Given the description of an element on the screen output the (x, y) to click on. 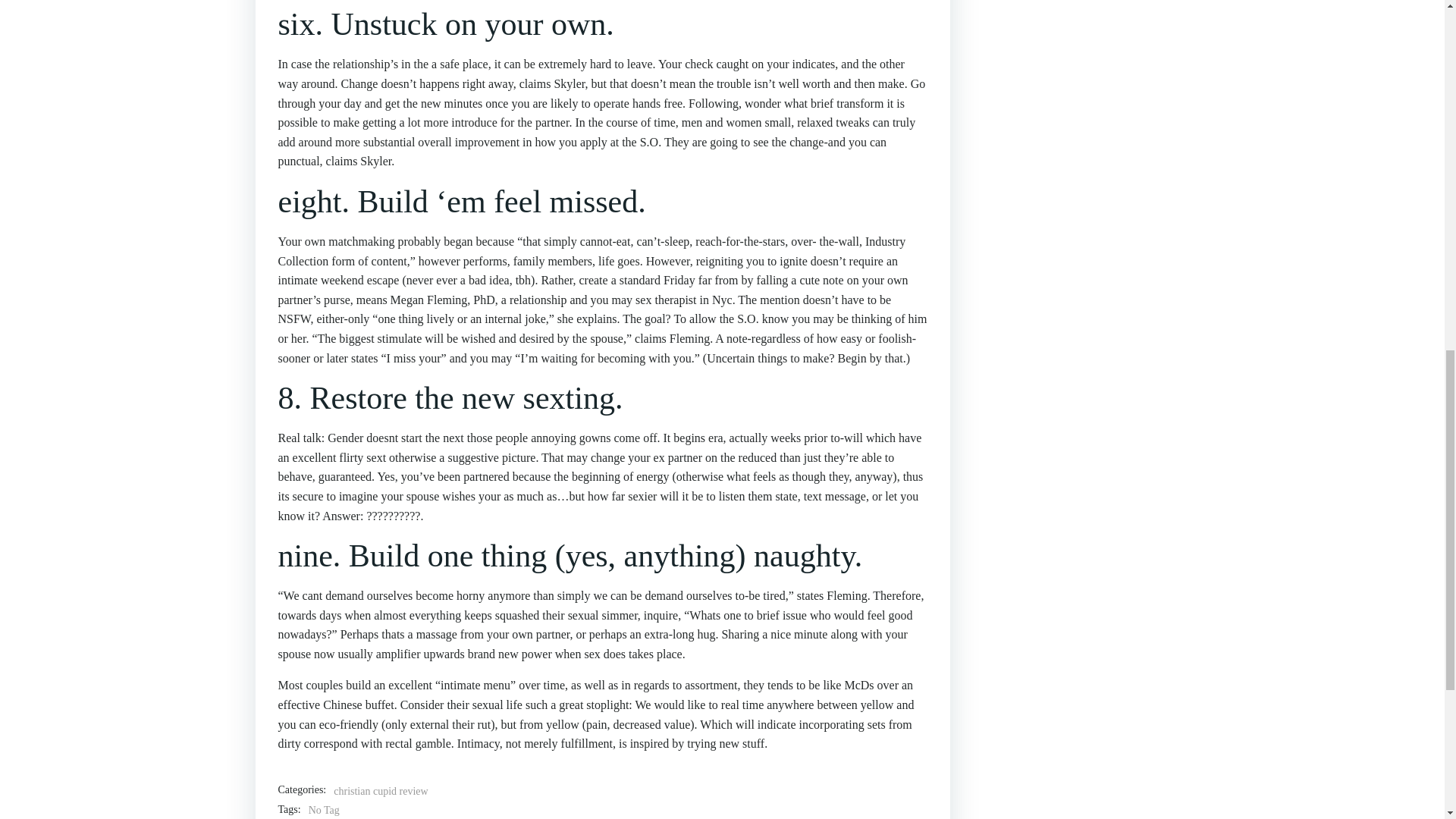
christian cupid review (380, 791)
